Given the description of an element on the screen output the (x, y) to click on. 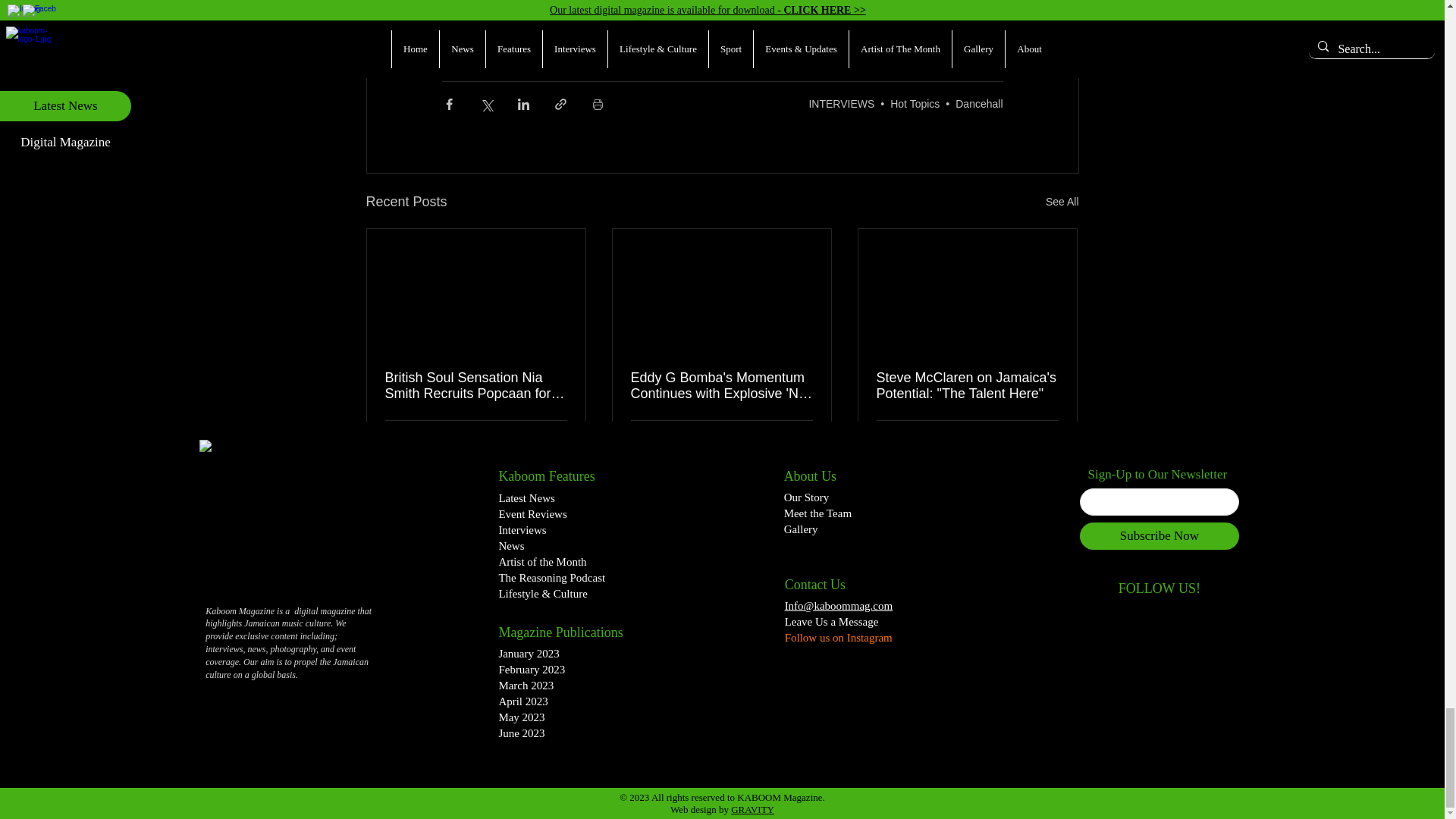
Hot Topics (914, 103)
Dancehall (979, 103)
0 (643, 438)
See All (1061, 201)
0 (397, 438)
INTERVIEWS (841, 103)
